Given the description of an element on the screen output the (x, y) to click on. 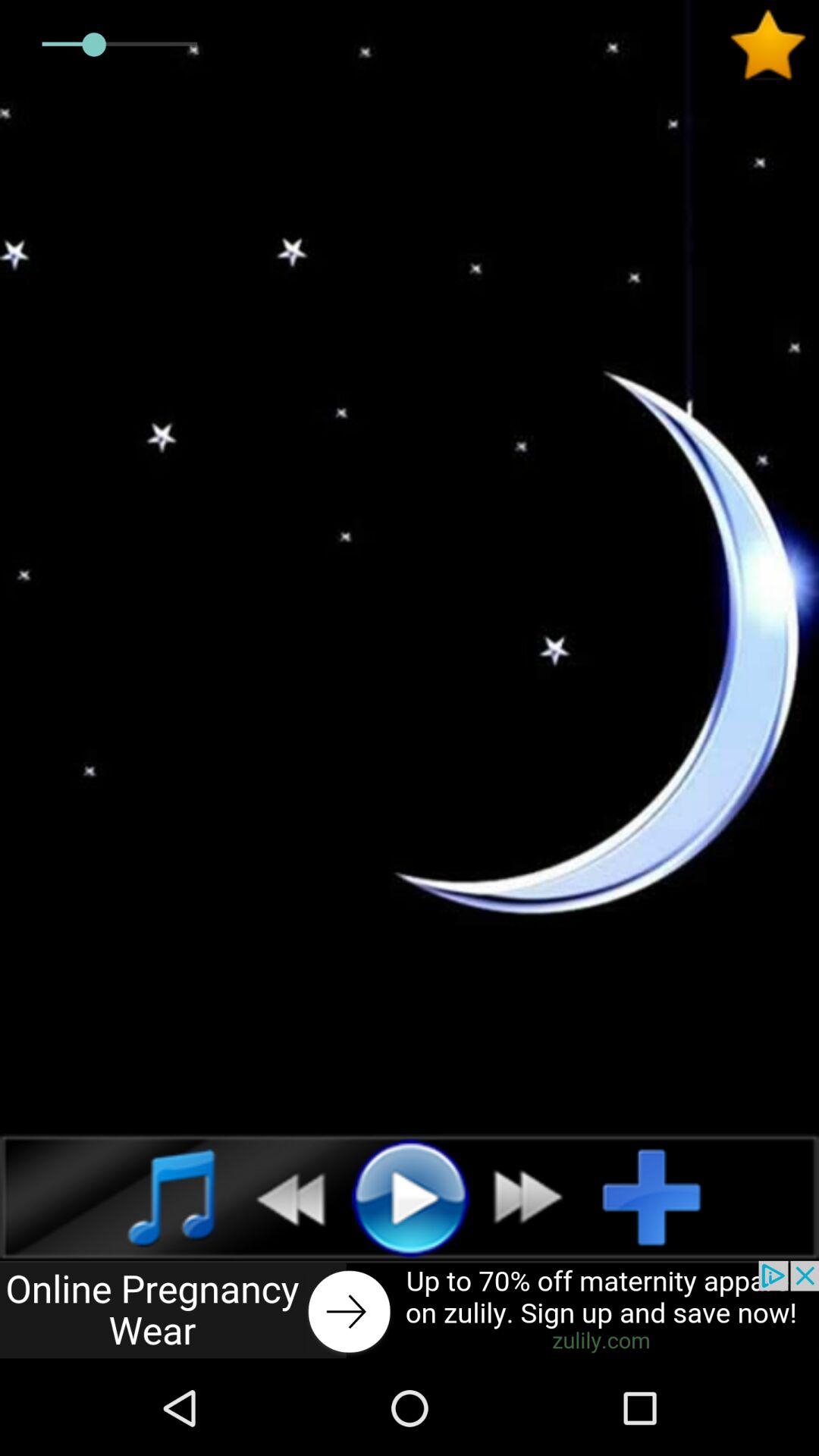
back (281, 1196)
